Given the description of an element on the screen output the (x, y) to click on. 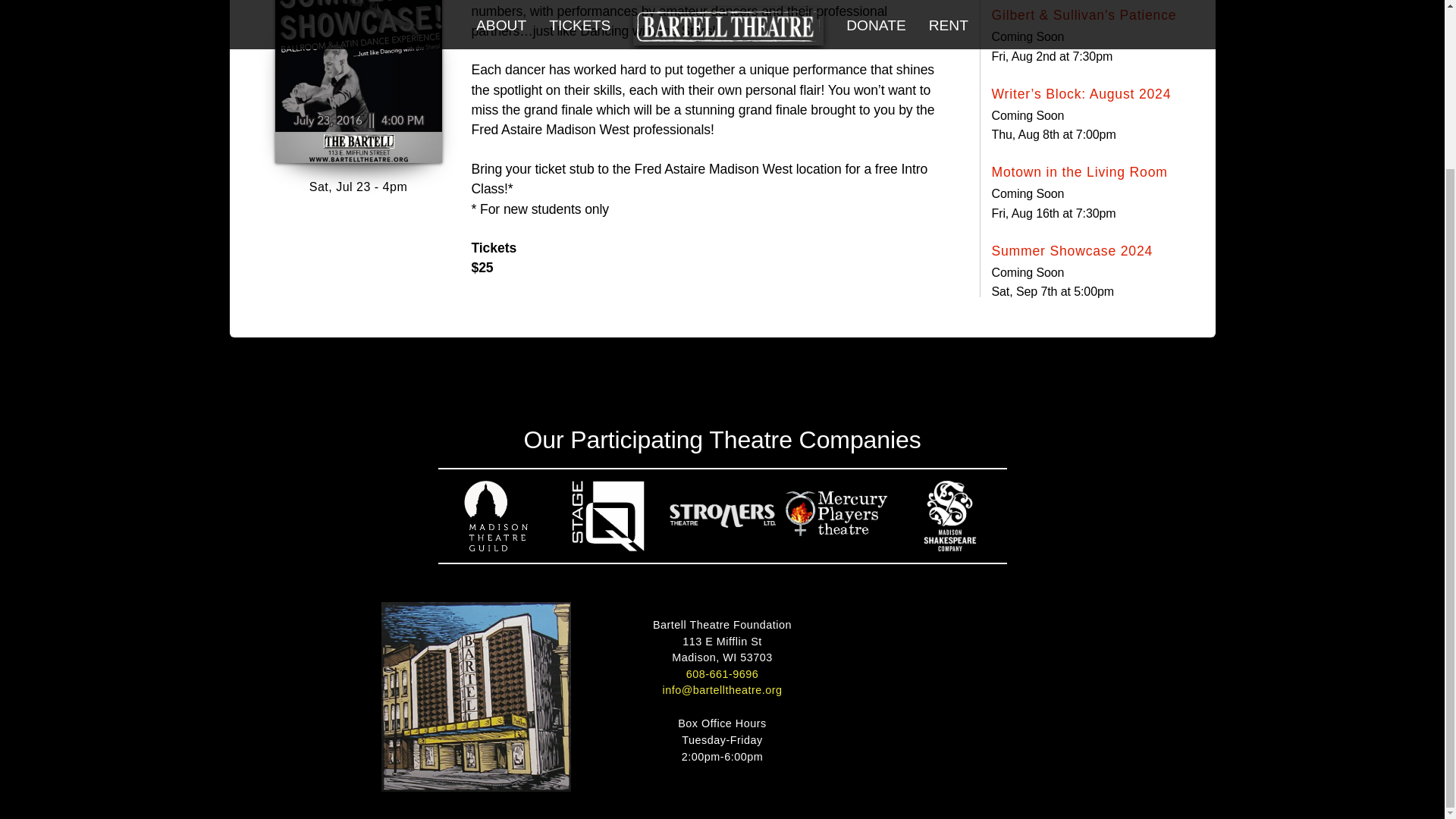
Summer Showcase 2024 (1072, 251)
Motown in the Living Room (1079, 172)
608-661-9696 (721, 674)
